Given the description of an element on the screen output the (x, y) to click on. 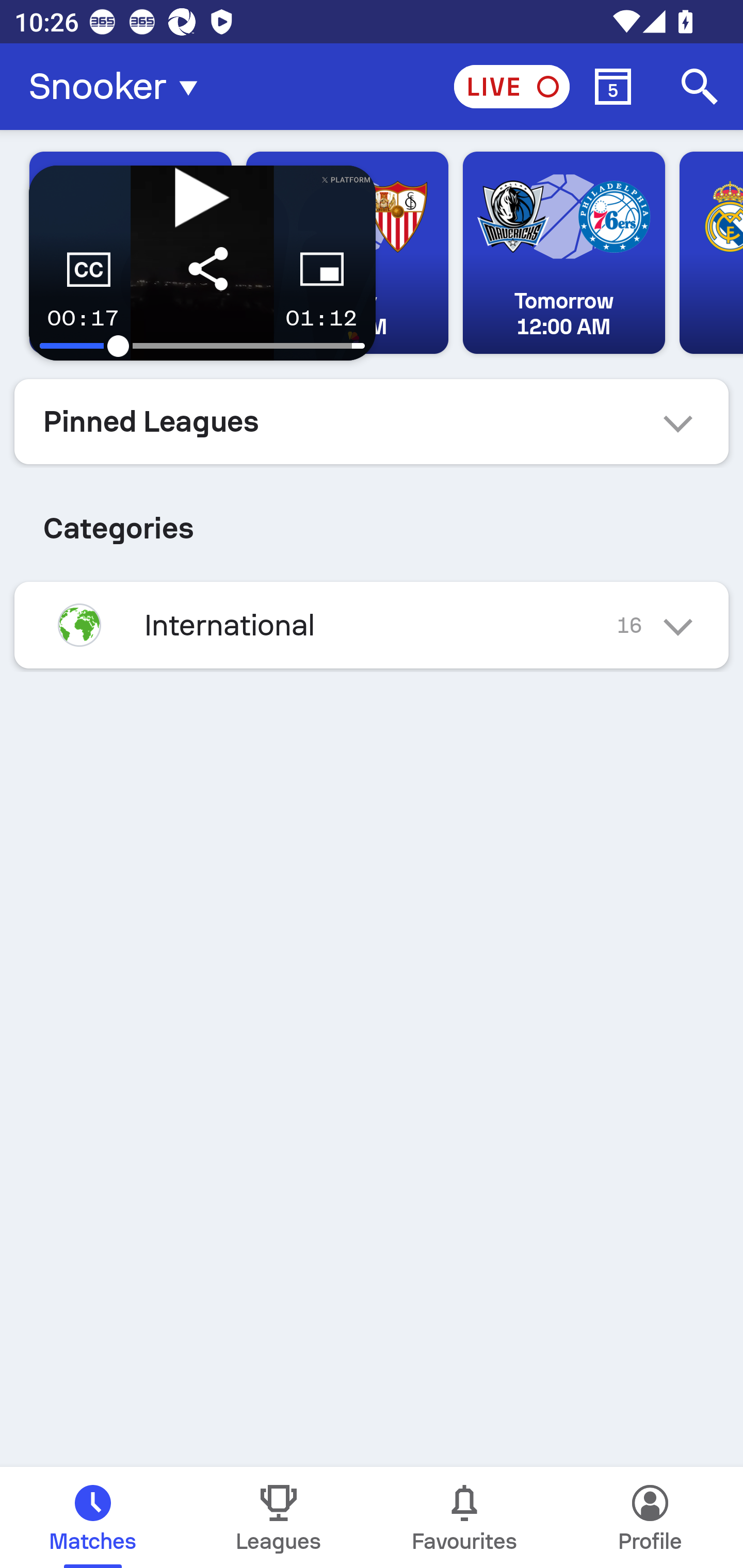
Snooker (118, 86)
Calendar (612, 86)
Search (699, 86)
Tomorrow
12:00 AM (563, 253)
Pinned Leagues (371, 421)
Categories (371, 520)
International 16 (371, 624)
Leagues (278, 1517)
Favourites (464, 1517)
Profile (650, 1517)
